Given the description of an element on the screen output the (x, y) to click on. 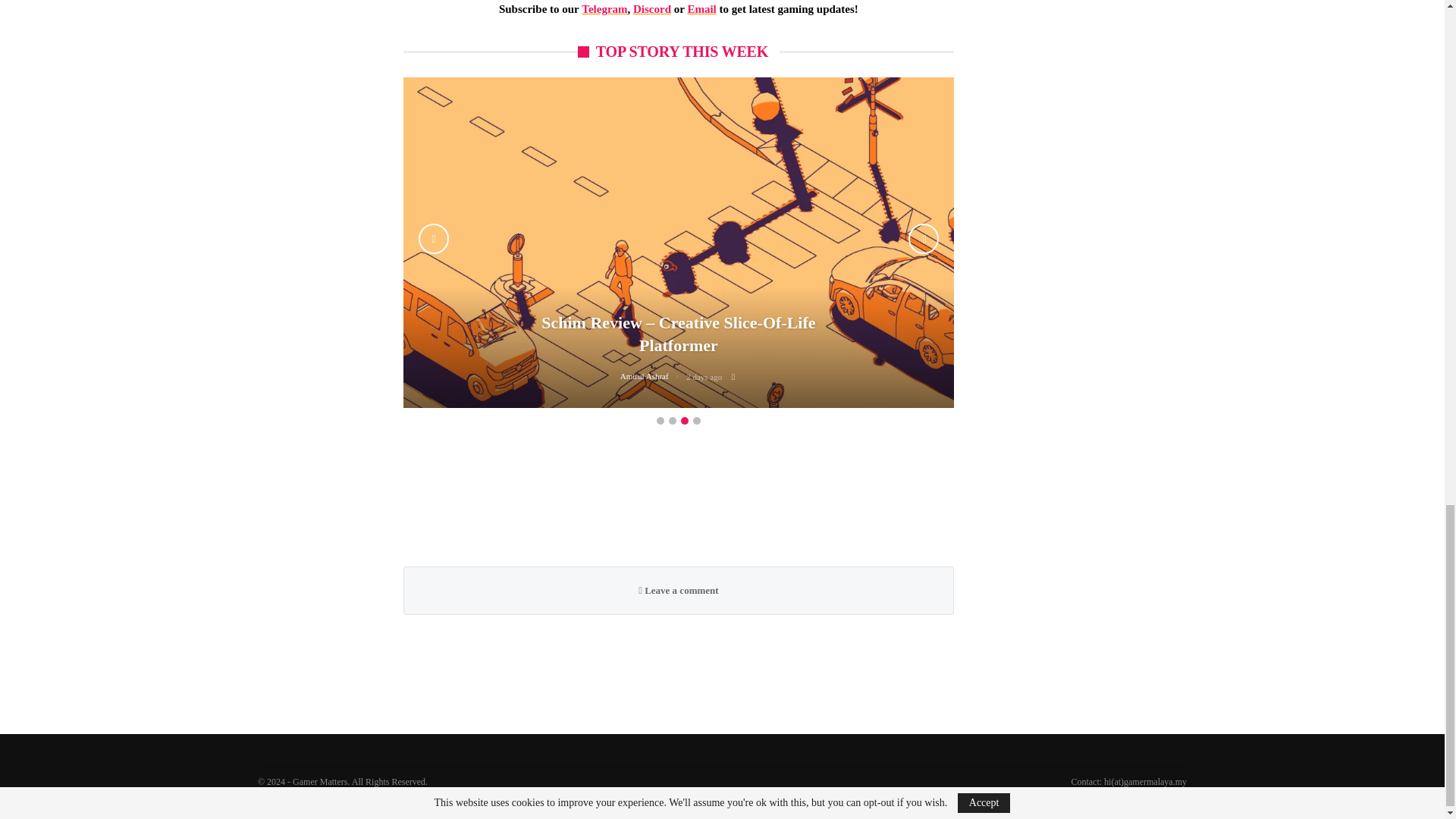
Browse Author Articles (652, 376)
